Given the description of an element on the screen output the (x, y) to click on. 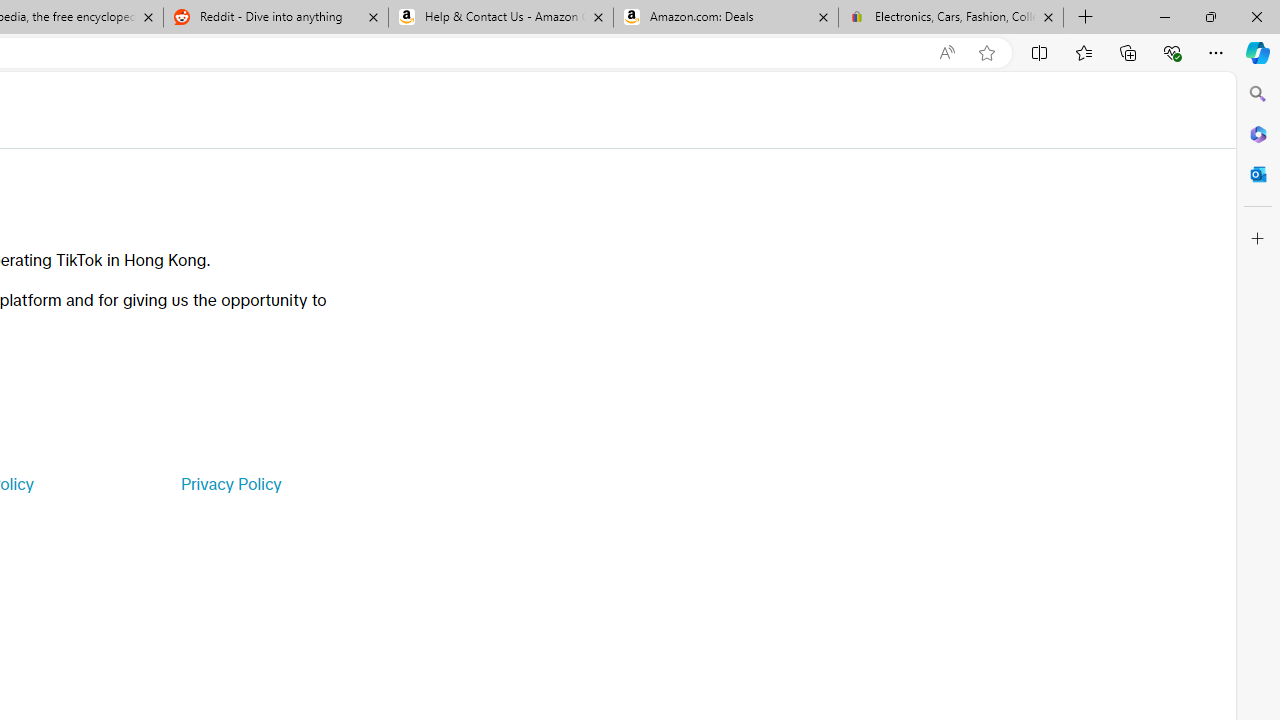
Amazon.com: Deals (726, 17)
